Given the description of an element on the screen output the (x, y) to click on. 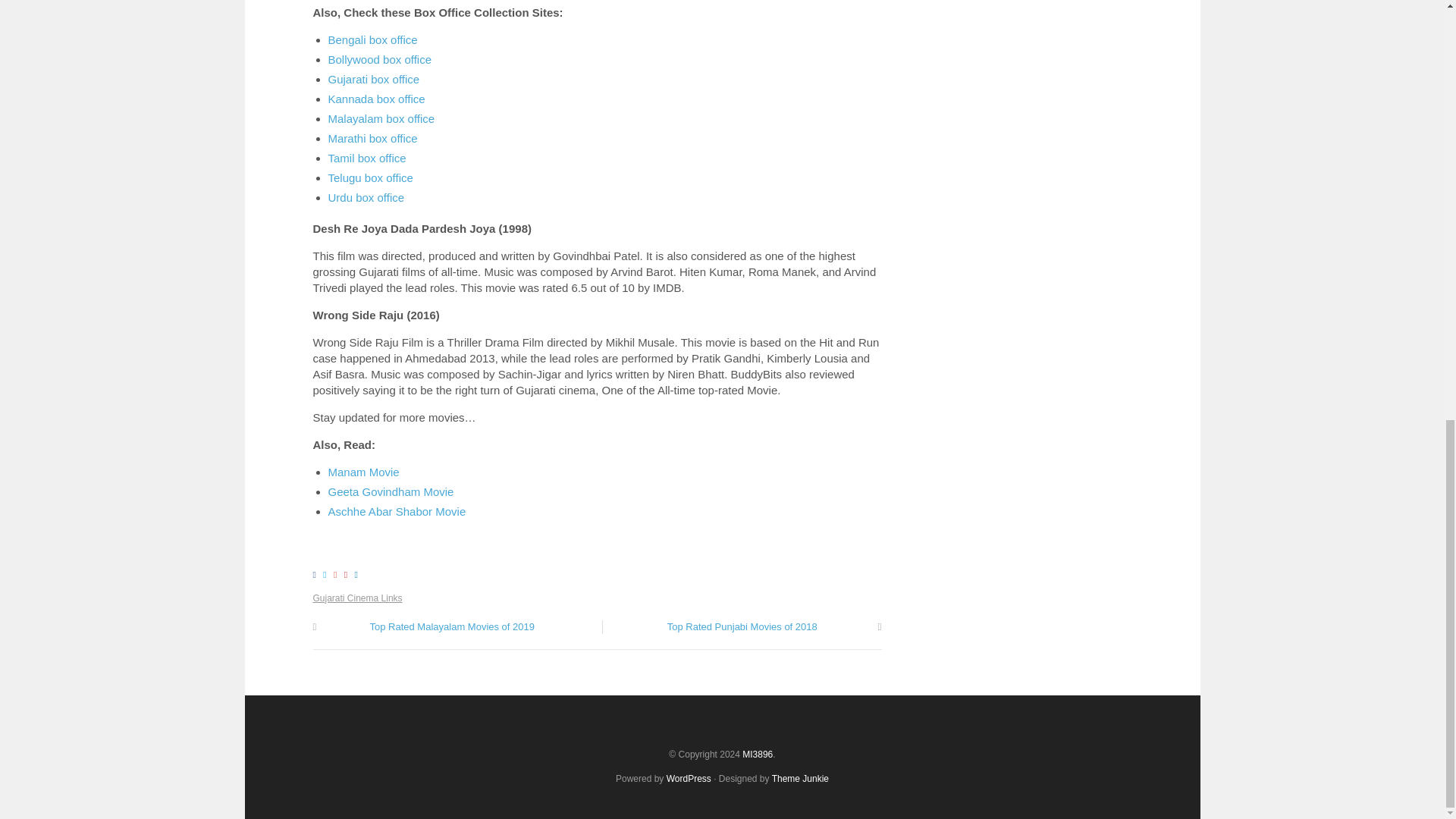
Manam Movie (362, 472)
Telugu box office (369, 177)
Marathi box office (371, 137)
Bengali box office (371, 39)
Urdu box office (365, 196)
Kannada box office (376, 98)
Geeta Govindham Movie (389, 491)
Gujarati box office (373, 78)
Tamil box office (366, 157)
Bollywood box office (378, 59)
